Given the description of an element on the screen output the (x, y) to click on. 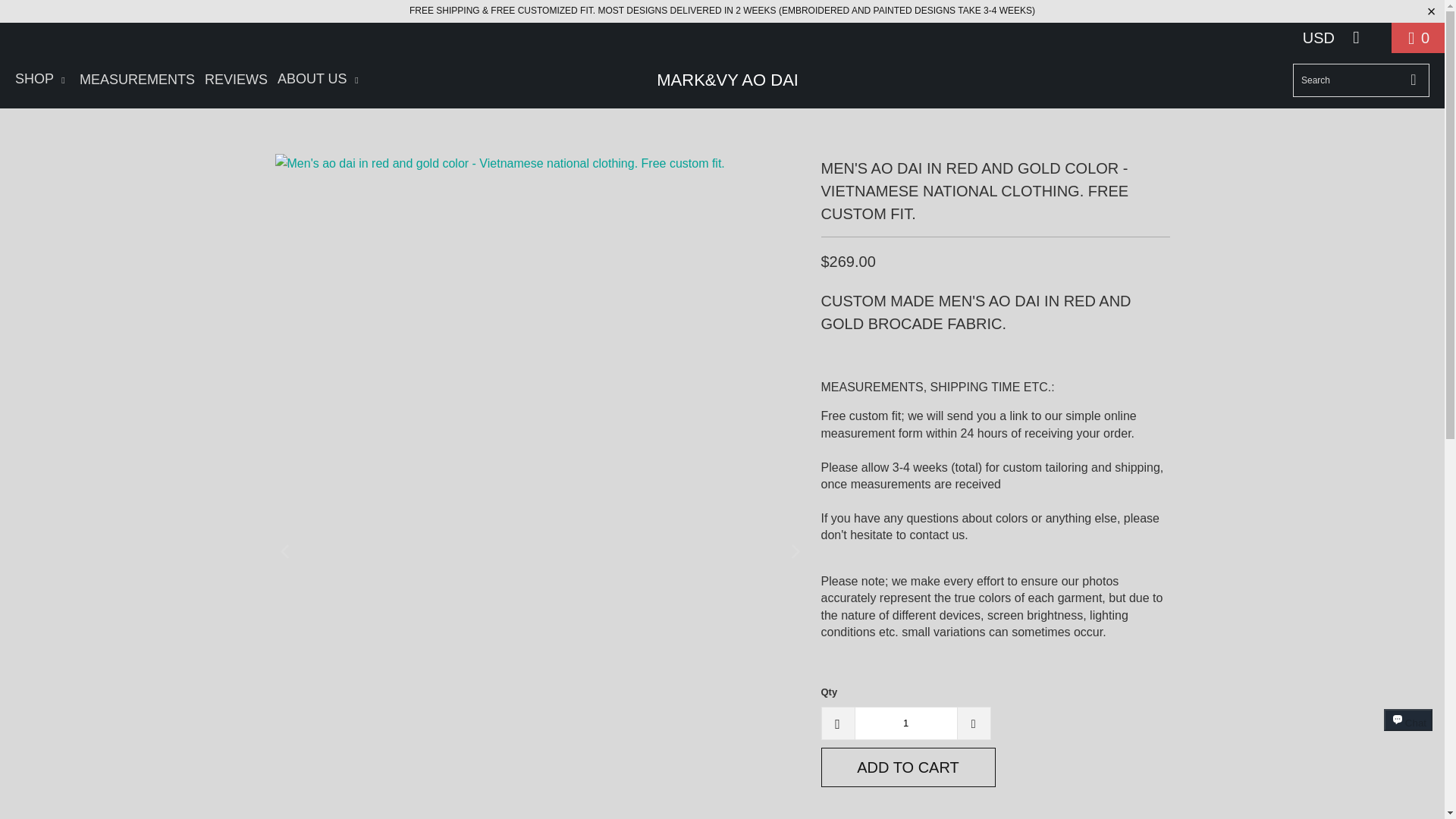
Shopify online store chat (1408, 733)
1 (904, 723)
